Given the description of an element on the screen output the (x, y) to click on. 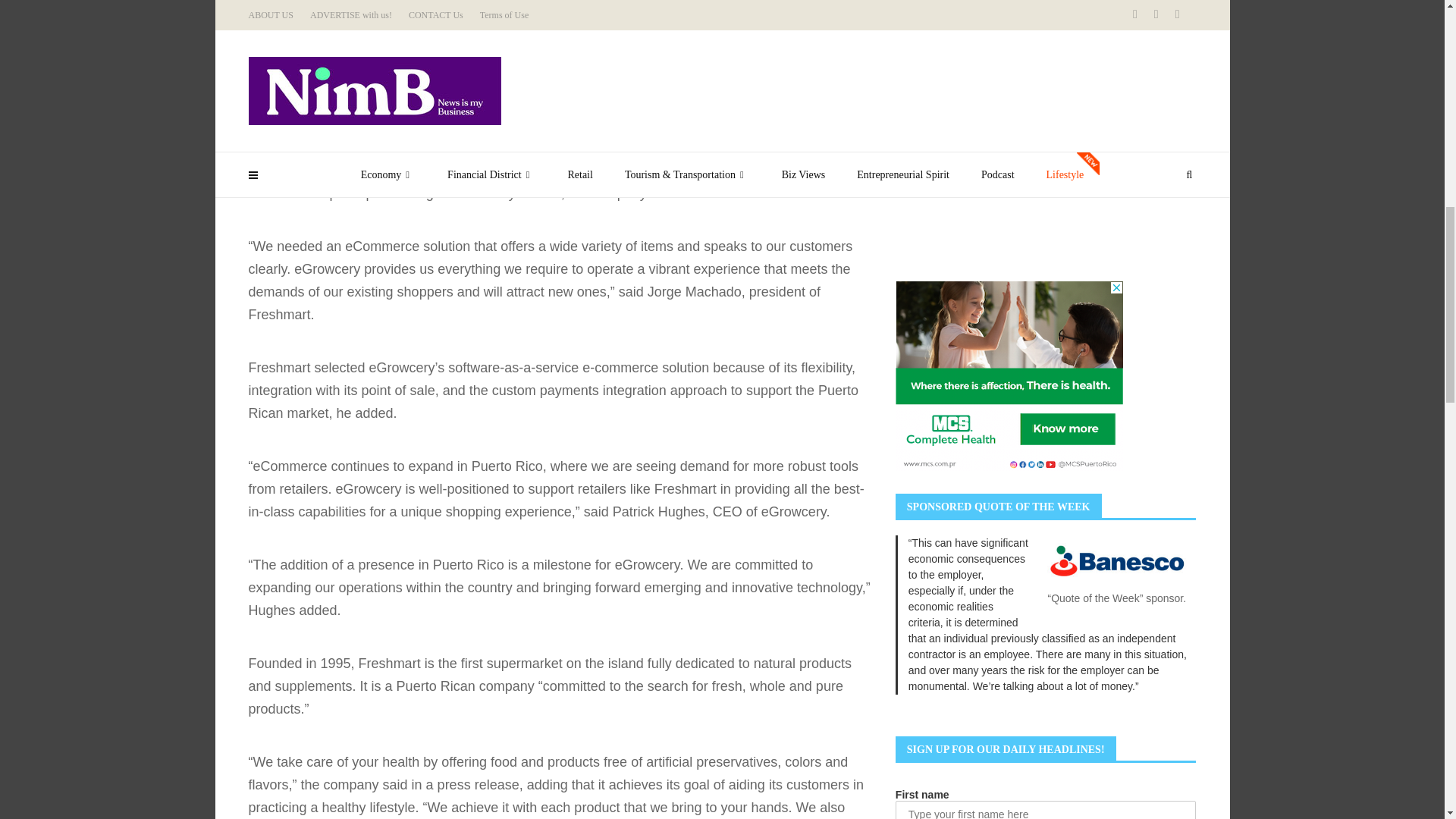
3rd party ad content (1008, 22)
3rd party ad content (1008, 375)
3rd party ad content (1008, 163)
